Given the description of an element on the screen output the (x, y) to click on. 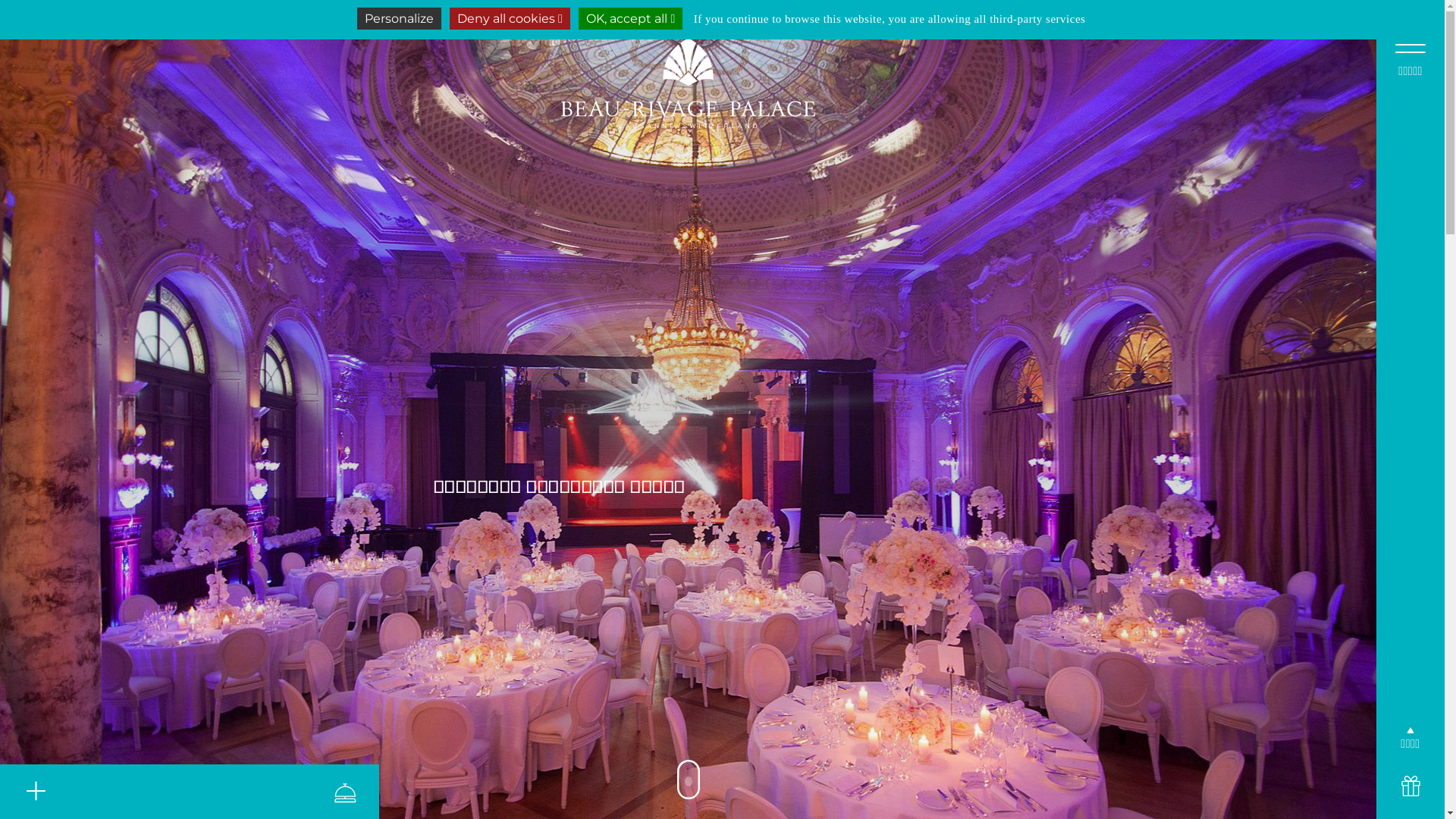
Deny all cookies Element type: text (509, 18)
OK, accept all Element type: text (630, 18)
Personalize Element type: text (399, 18)
